Given the description of an element on the screen output the (x, y) to click on. 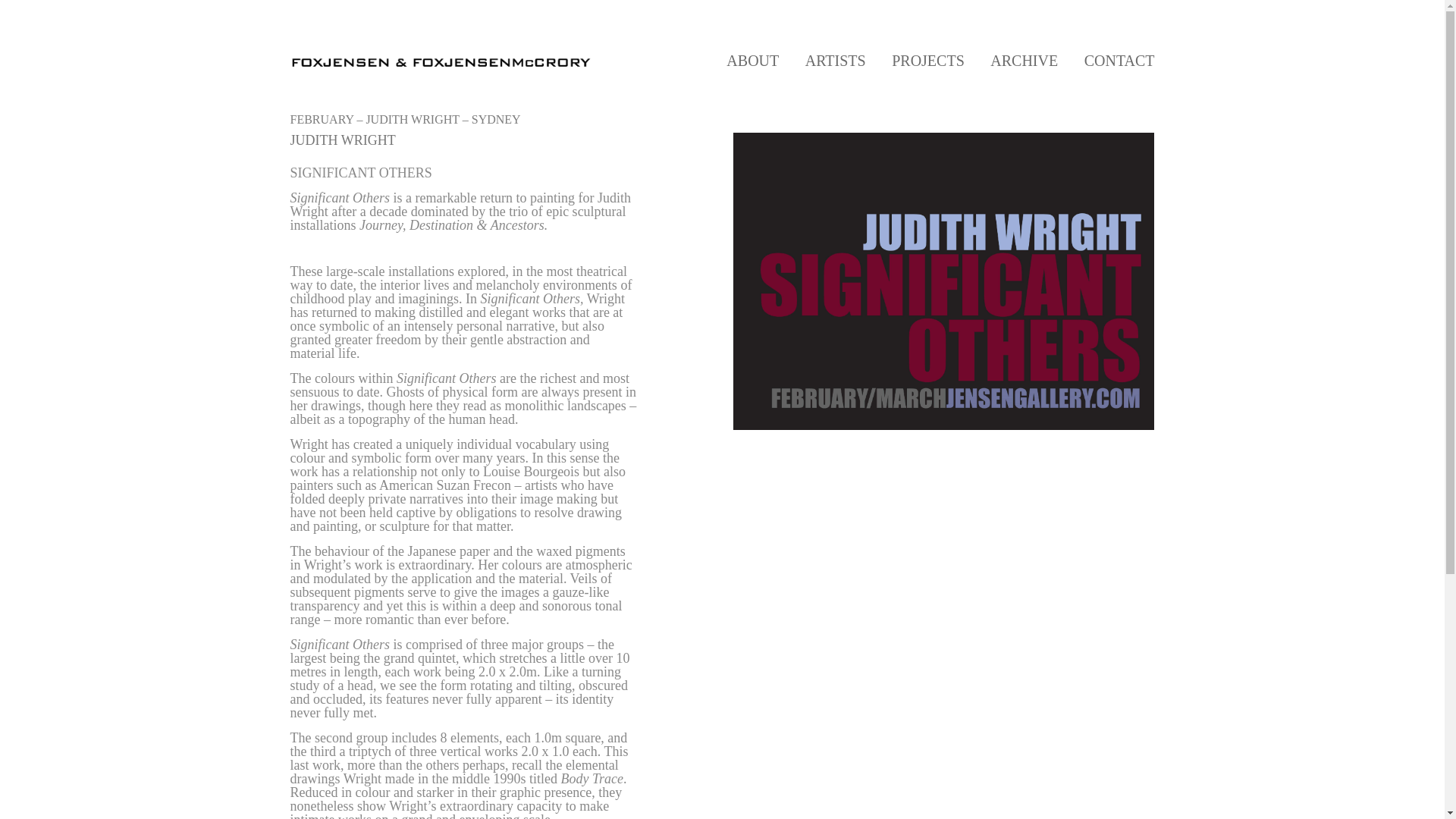
ABOUT (752, 60)
ARTISTS (835, 60)
PROJECTS (927, 60)
